Given the description of an element on the screen output the (x, y) to click on. 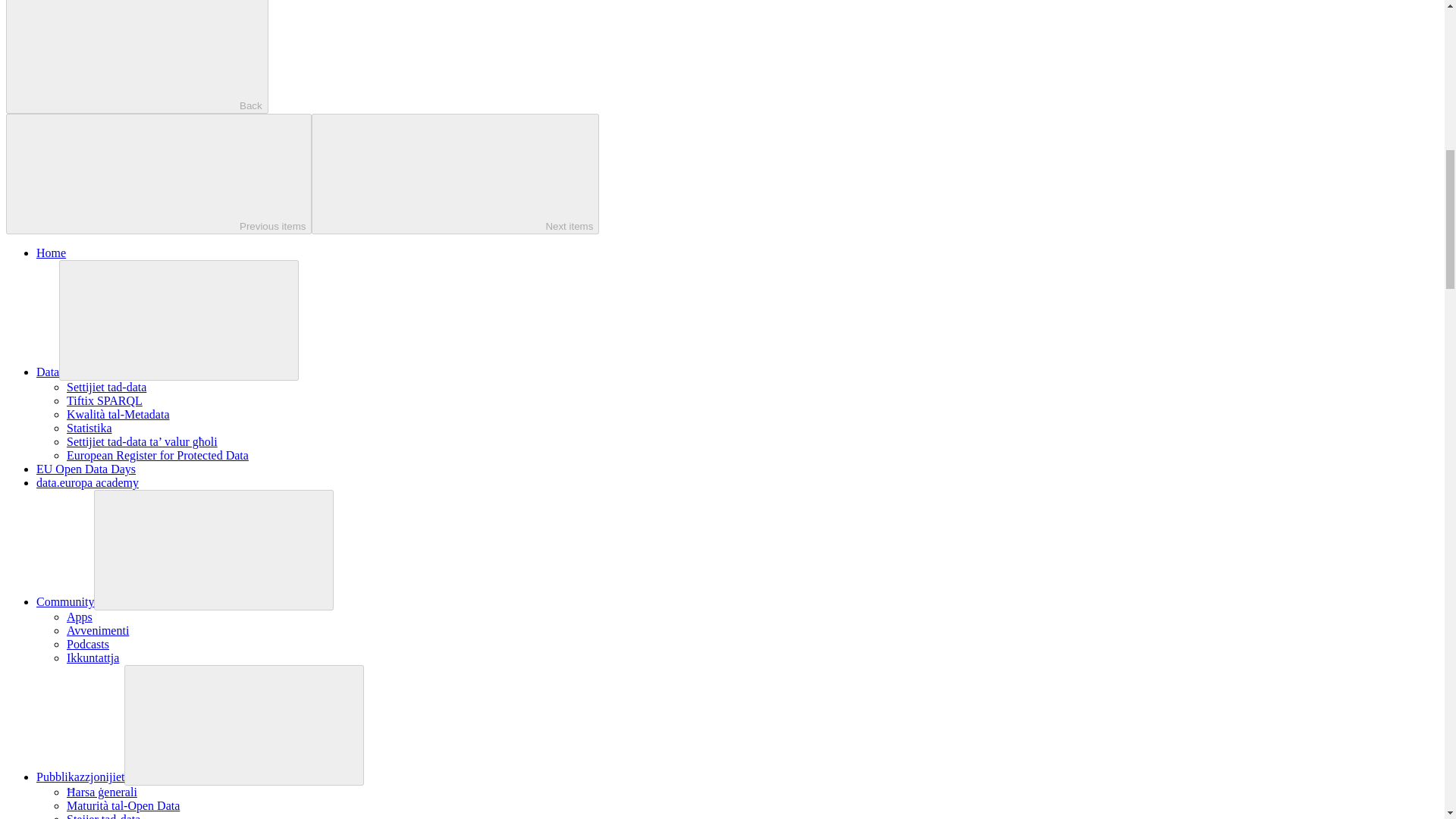
Back (136, 56)
Community (65, 601)
Next items (454, 173)
Podcasts (87, 644)
EU Open Data Days (85, 468)
Data (47, 371)
Tiftix SPARQL (104, 400)
Ikkuntattja (92, 657)
Stejjer tad-data (102, 816)
Settijiet tad-data (106, 386)
Avvenimenti (97, 630)
Apps (79, 616)
Pubblikazzjonijiet (79, 776)
data.europa academy (87, 481)
European Register for Protected Data (157, 454)
